Given the description of an element on the screen output the (x, y) to click on. 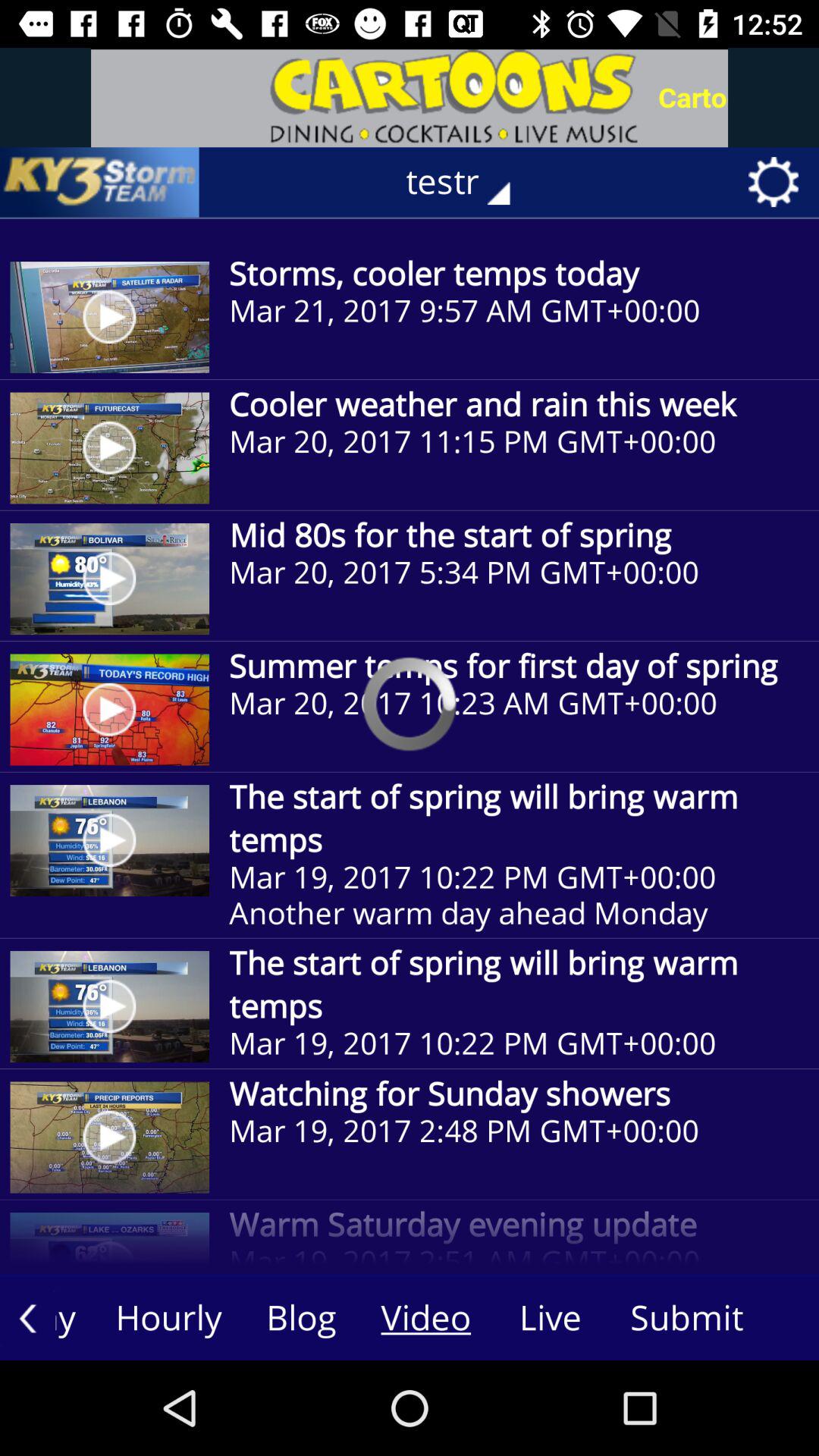
select icon next to the testr icon (99, 182)
